Given the description of an element on the screen output the (x, y) to click on. 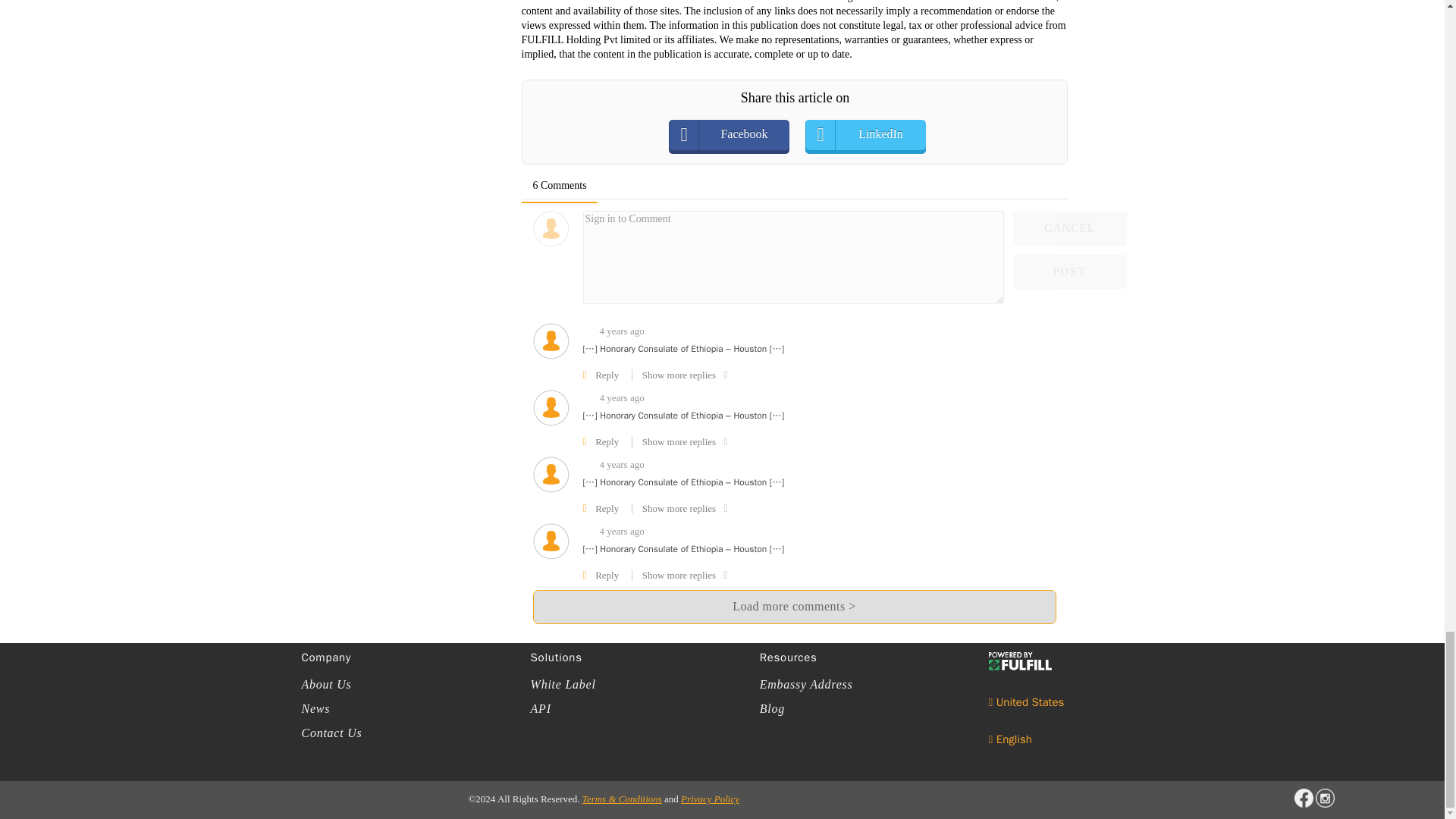
POST (1069, 271)
Facebook (743, 134)
LinkedIn (880, 134)
CANCEL (1069, 228)
